Given the description of an element on the screen output the (x, y) to click on. 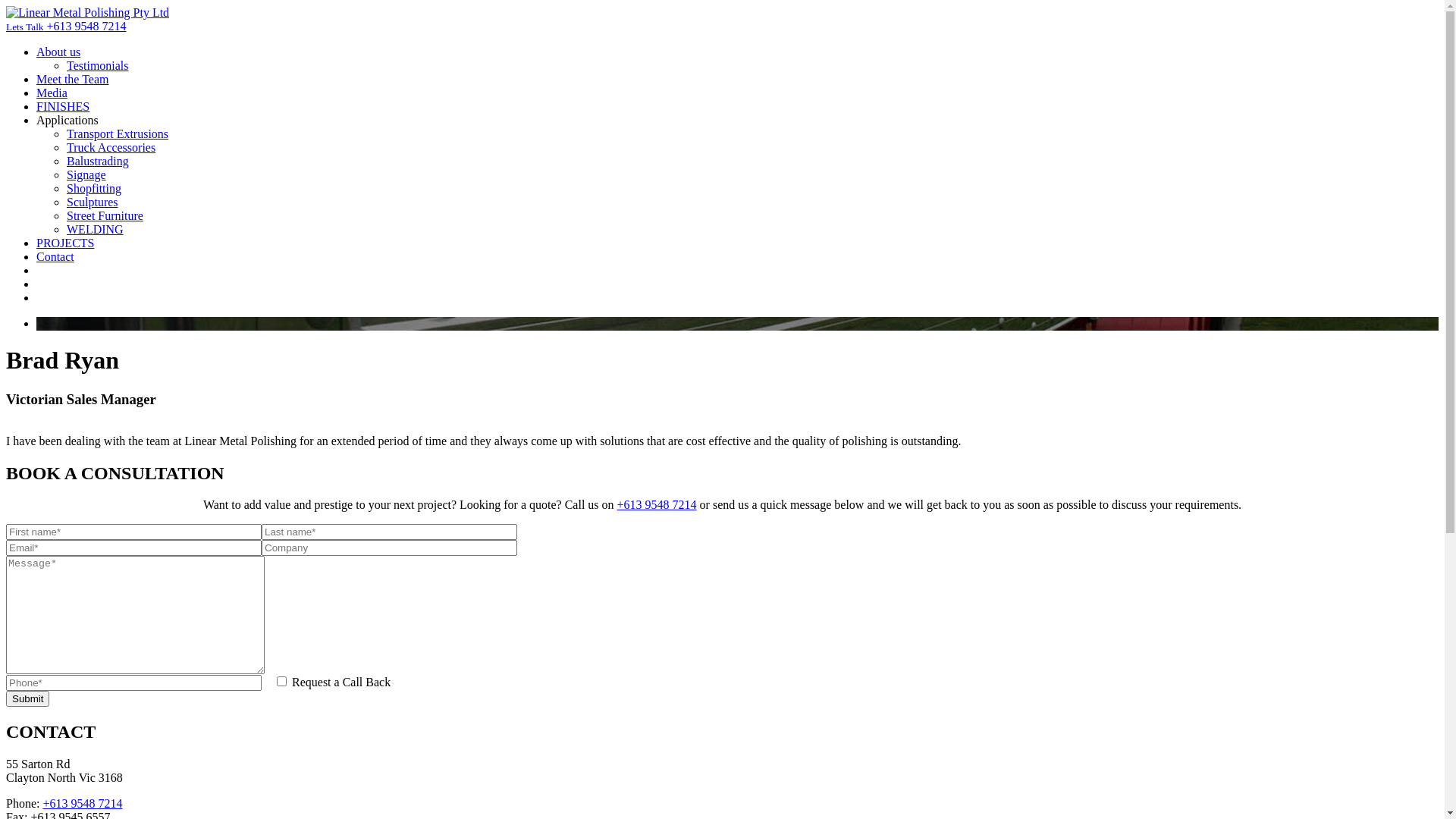
Signage Element type: text (86, 174)
Transport Extrusions Element type: text (117, 133)
Shopfitting Element type: text (93, 188)
Street Furniture Element type: text (104, 215)
Lets Talk +613 9548 7214 Element type: text (66, 25)
Testimonials Element type: text (97, 65)
Balustrading Element type: text (97, 160)
Contact Element type: text (55, 256)
WELDING Element type: text (94, 228)
Sculptures Element type: text (92, 201)
Applications Element type: text (67, 119)
+613 9548 7214 Element type: text (82, 803)
FINISHES Element type: text (62, 106)
+613 9548 7214 Element type: text (656, 504)
PROJECTS Element type: text (65, 242)
Meet the Team Element type: text (72, 78)
Media Element type: text (51, 92)
About us Element type: text (58, 51)
Submit Element type: text (27, 698)
Truck Accessories Element type: text (110, 147)
